Given the description of an element on the screen output the (x, y) to click on. 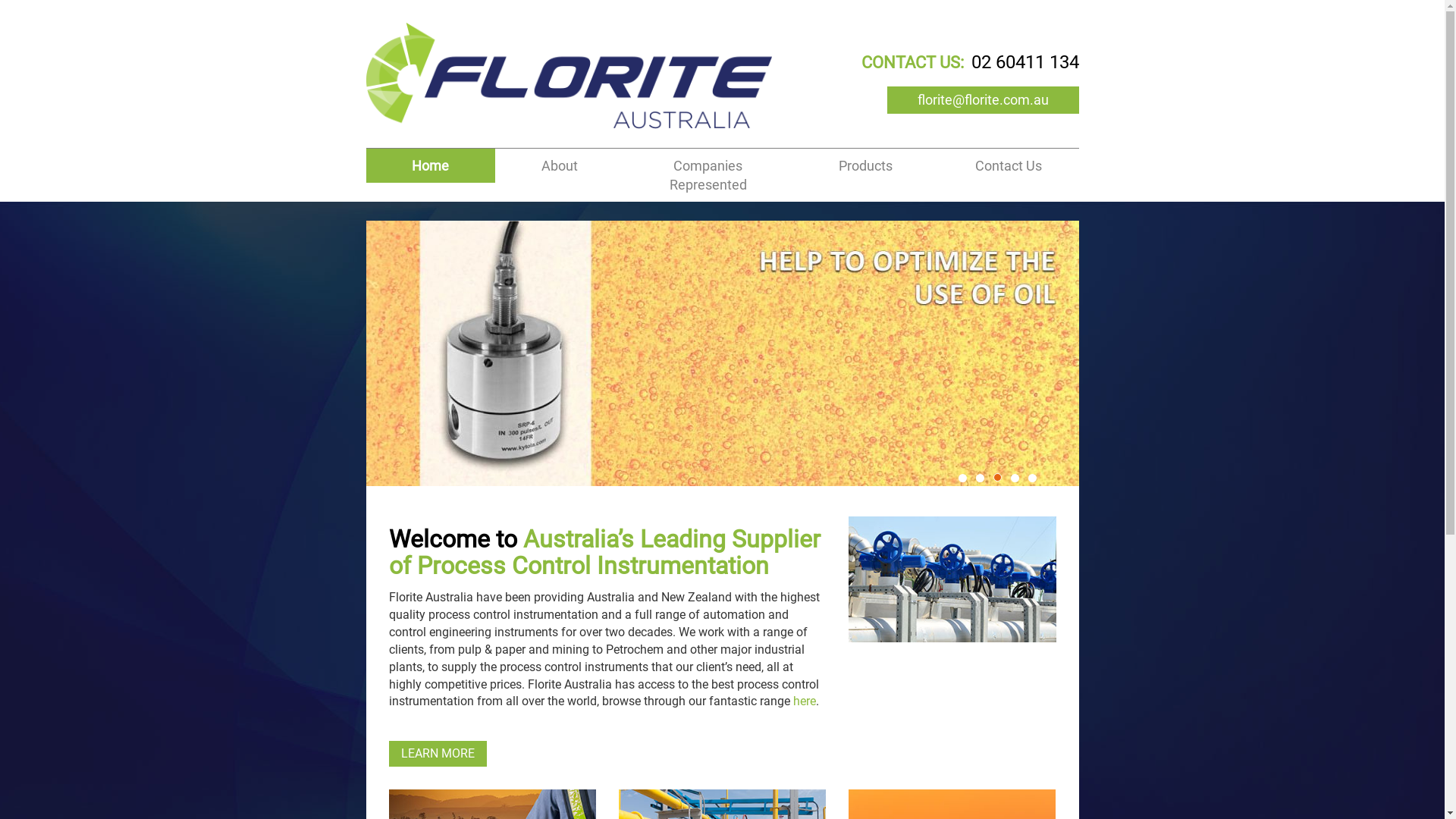
4 Element type: text (1014, 477)
Contact Us Element type: text (1008, 165)
LEARN MORE Element type: text (437, 753)
5 Element type: text (1032, 477)
here Element type: text (804, 700)
2 Element type: text (979, 477)
Products Element type: text (865, 165)
About Element type: text (559, 165)
CONTACT US:  02 60411 134 Element type: text (970, 62)
1 Element type: text (962, 477)
3 Element type: text (997, 477)
florite@florite.com.au Element type: text (983, 99)
Companies Represented Element type: text (707, 174)
Home Element type: text (429, 165)
